Given the description of an element on the screen output the (x, y) to click on. 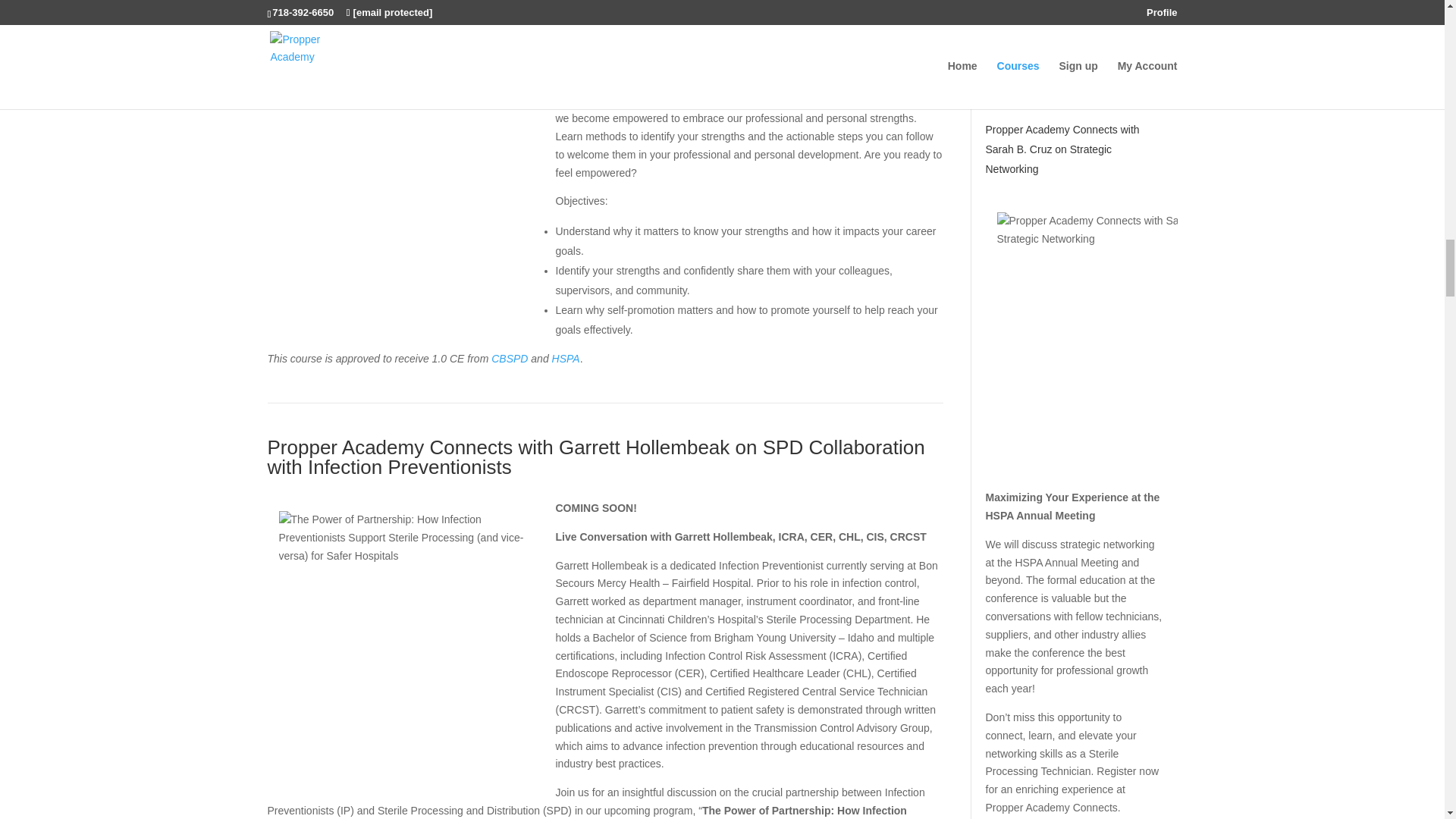
ON DEMAND:  Empowered (384, 12)
ON DEMAND: Empowered (384, 12)
CBSPD (509, 358)
HSPA (565, 358)
